Given the description of an element on the screen output the (x, y) to click on. 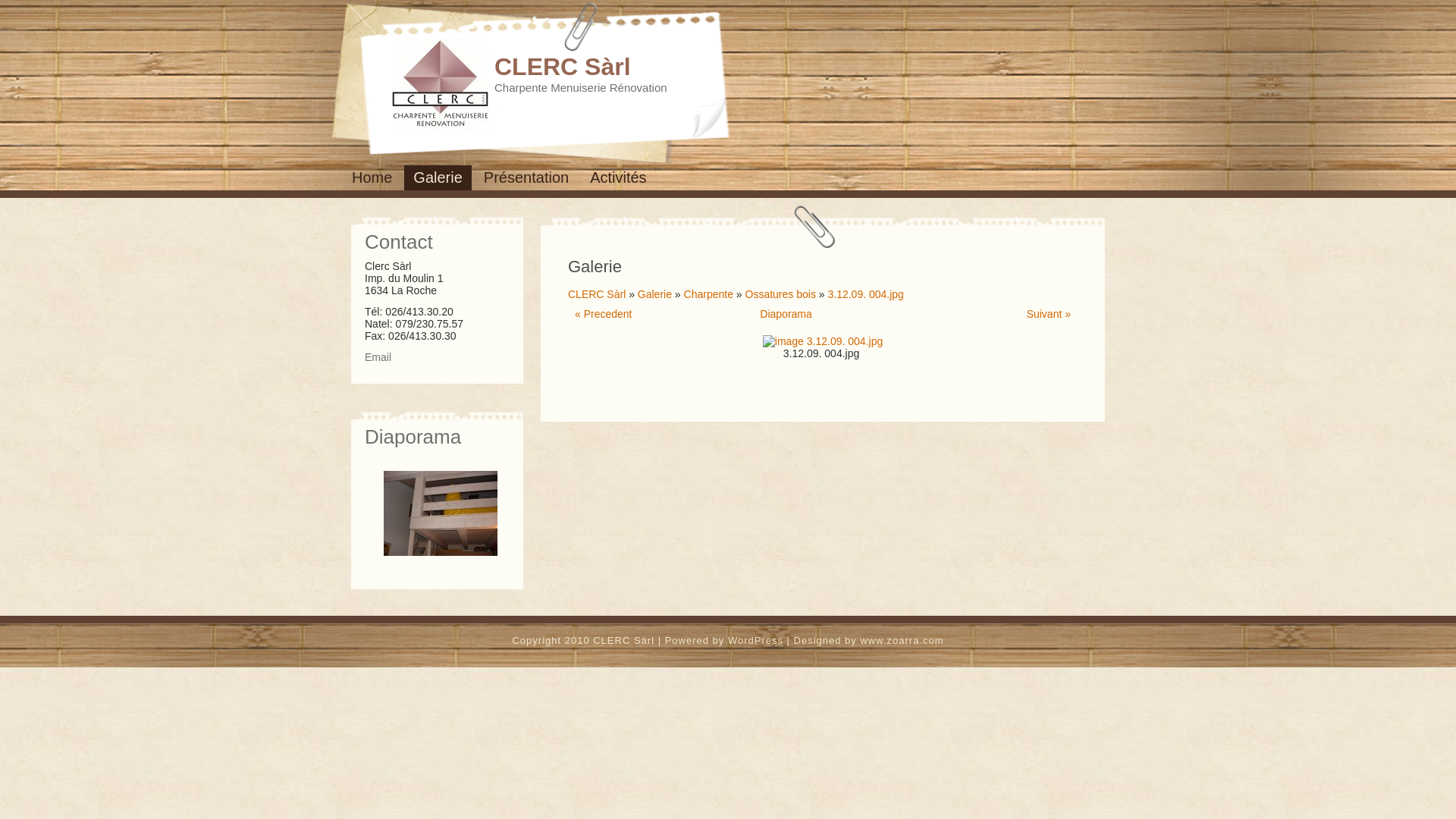
Diaporama Element type: text (785, 313)
Charpente Element type: text (708, 294)
Galerie Element type: text (654, 294)
Ossatures bois Element type: text (780, 294)
www.zoarra.com Element type: text (901, 640)
WordPress Element type: text (755, 640)
3.12.09. 004.jpg Element type: text (865, 294)
18.10.2005 002.jpg Element type: hover (442, 512)
3.12.09. 004.jpg Element type: hover (822, 341)
Galerie Element type: text (437, 177)
Email Element type: text (379, 357)
Home Element type: text (371, 177)
